Given the description of an element on the screen output the (x, y) to click on. 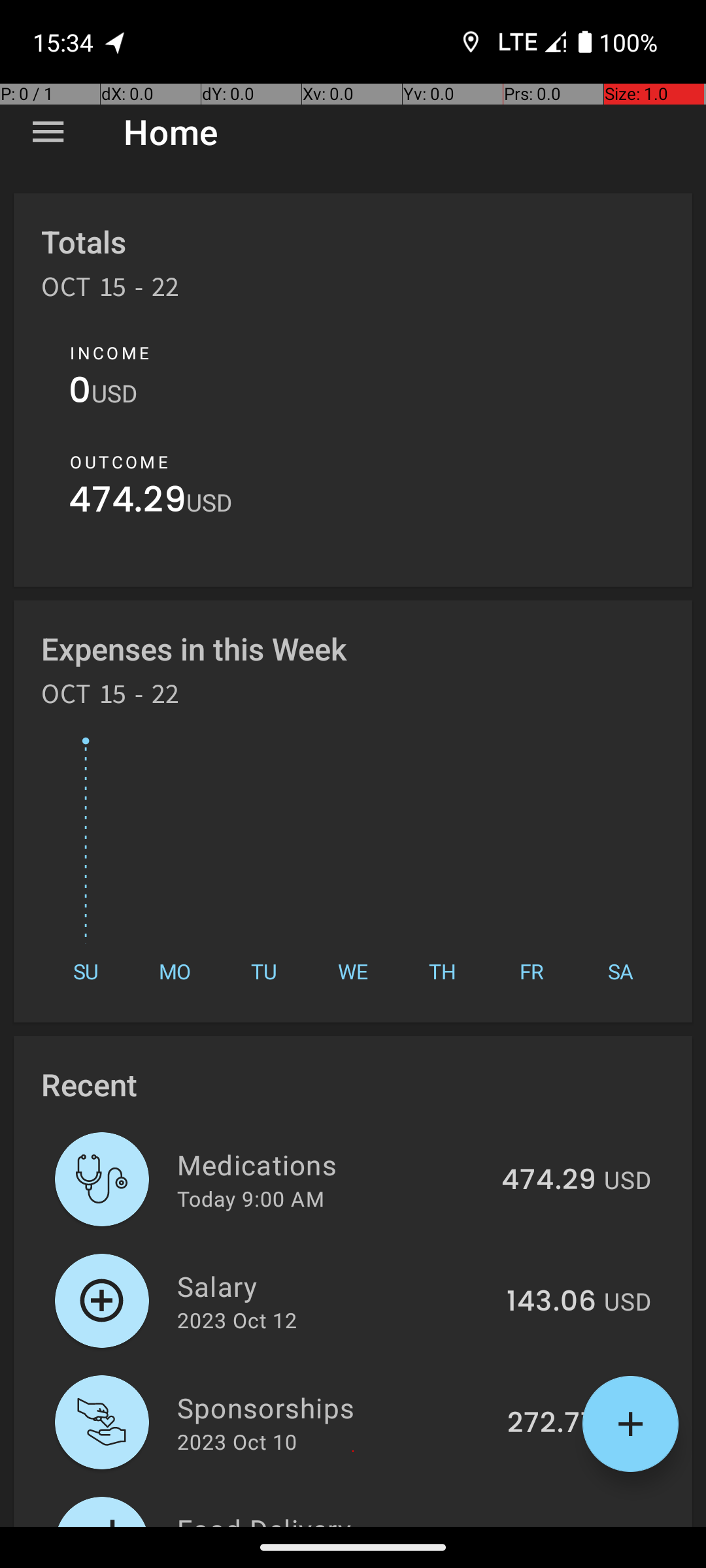
474.29 Element type: android.widget.TextView (127, 502)
Medications Element type: android.widget.TextView (331, 1164)
Today 9:00 AM Element type: android.widget.TextView (250, 1198)
Salary Element type: android.widget.TextView (334, 1285)
143.06 Element type: android.widget.TextView (550, 1301)
Sponsorships Element type: android.widget.TextView (334, 1407)
272.77 Element type: android.widget.TextView (551, 1423)
Food Delivery Element type: android.widget.TextView (335, 1518)
312.56 Element type: android.widget.TextView (551, 1524)
